Given the description of an element on the screen output the (x, y) to click on. 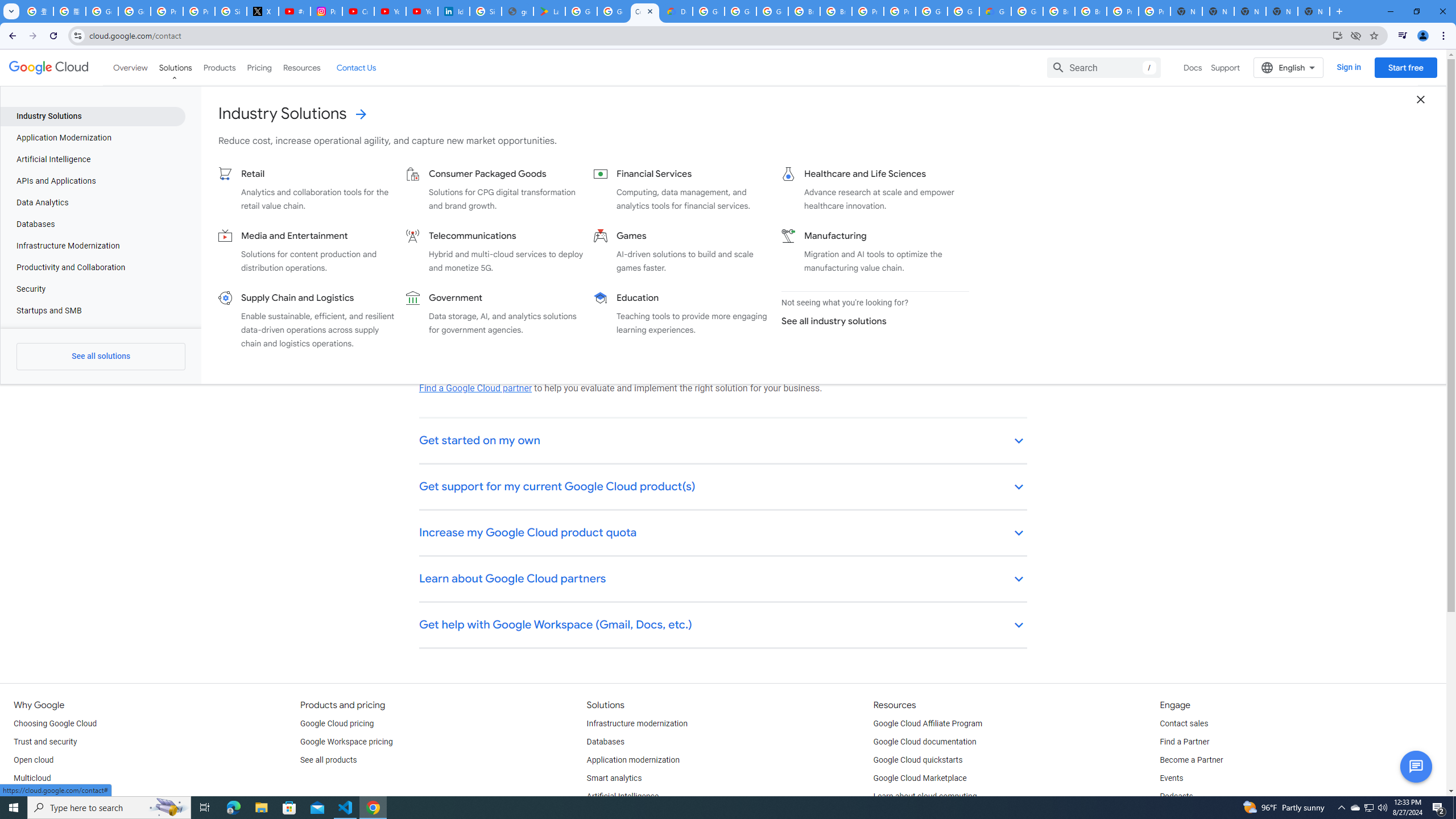
Google Cloud Platform (1027, 11)
Google Cloud Platform (708, 11)
Google Cloud quickstarts (917, 760)
Google Cloud pricing (336, 723)
New Tab (1313, 11)
YouTube Culture & Trends - YouTube Top 10, 2021 (421, 11)
Databases (605, 742)
Increase my Google Cloud product quota keyboard_arrow_down (723, 533)
Events (1170, 778)
